Given the description of an element on the screen output the (x, y) to click on. 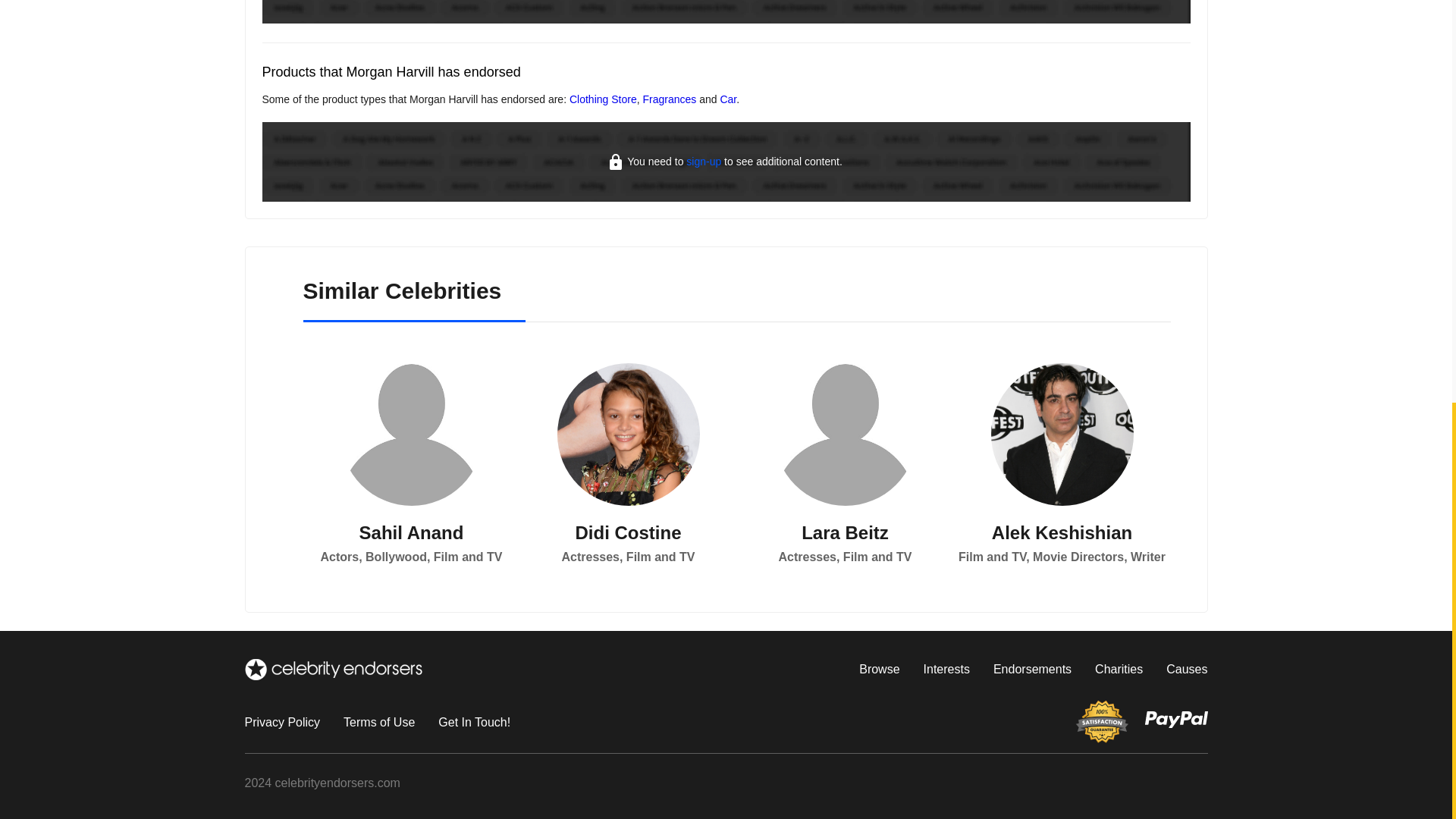
Fragrances (668, 99)
sign-up (702, 161)
Clothing Store (603, 99)
Car (727, 99)
